Given the description of an element on the screen output the (x, y) to click on. 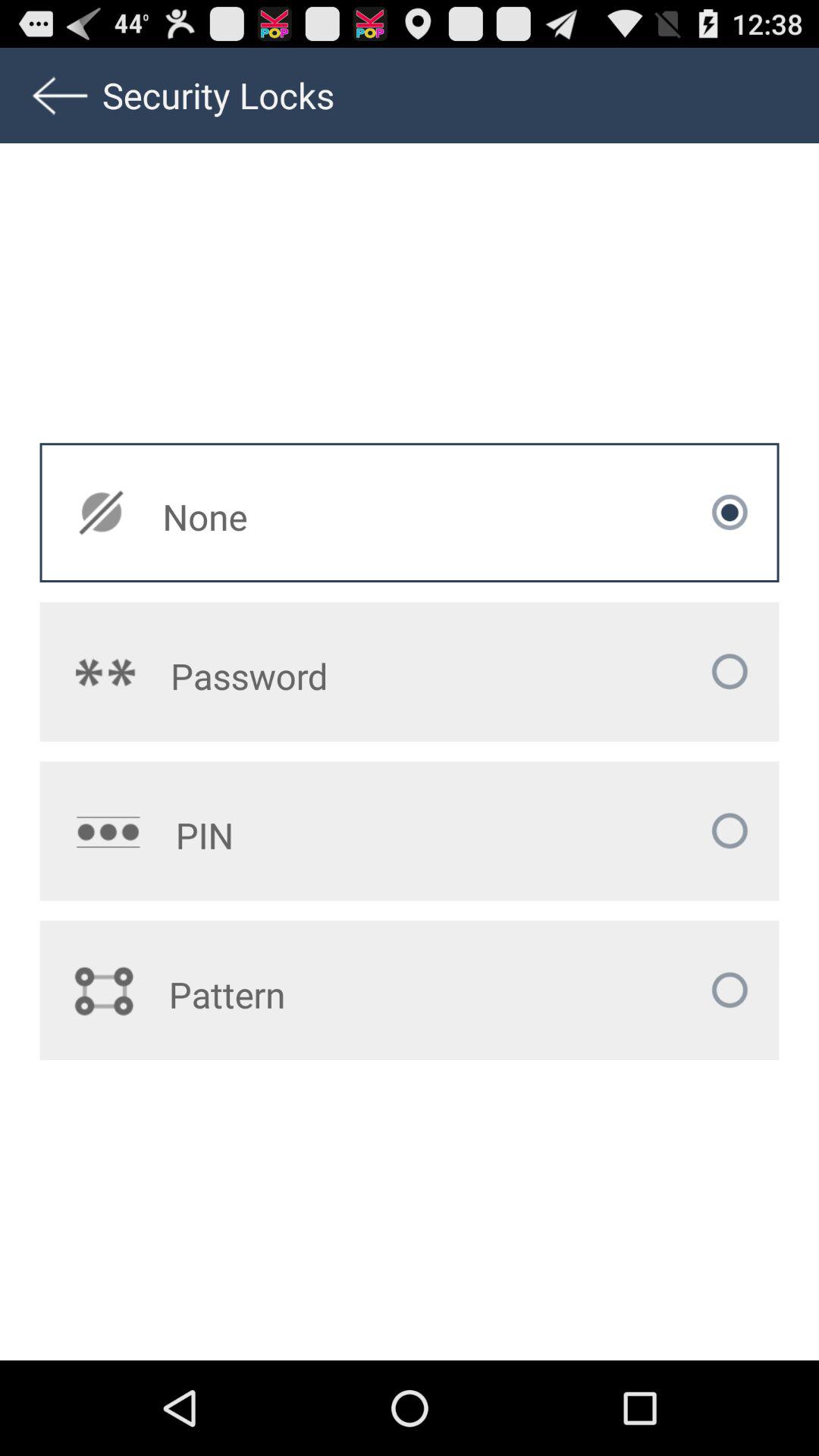
press pin icon (324, 835)
